Given the description of an element on the screen output the (x, y) to click on. 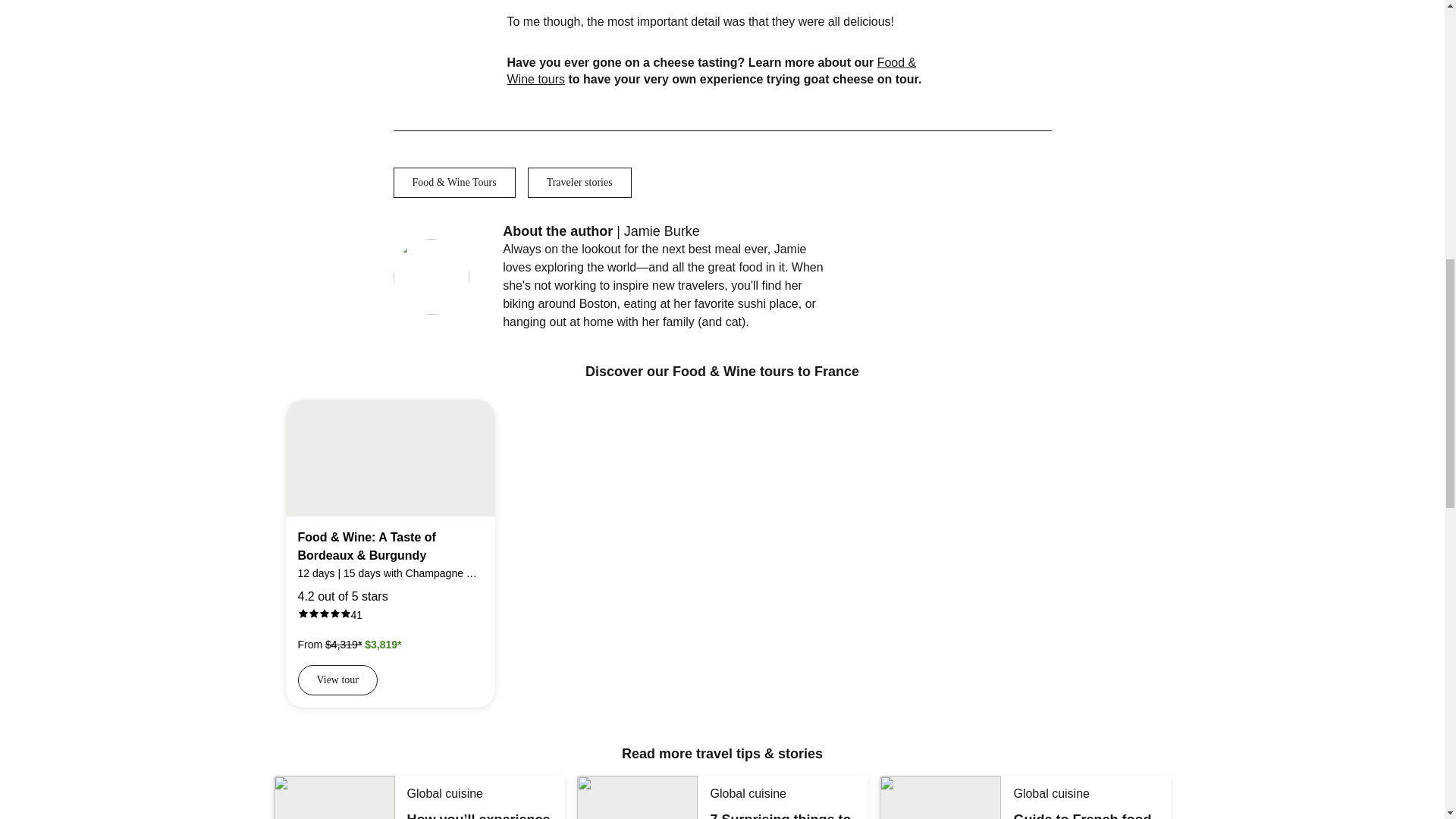
Traveler stories (579, 182)
